Given the description of an element on the screen output the (x, y) to click on. 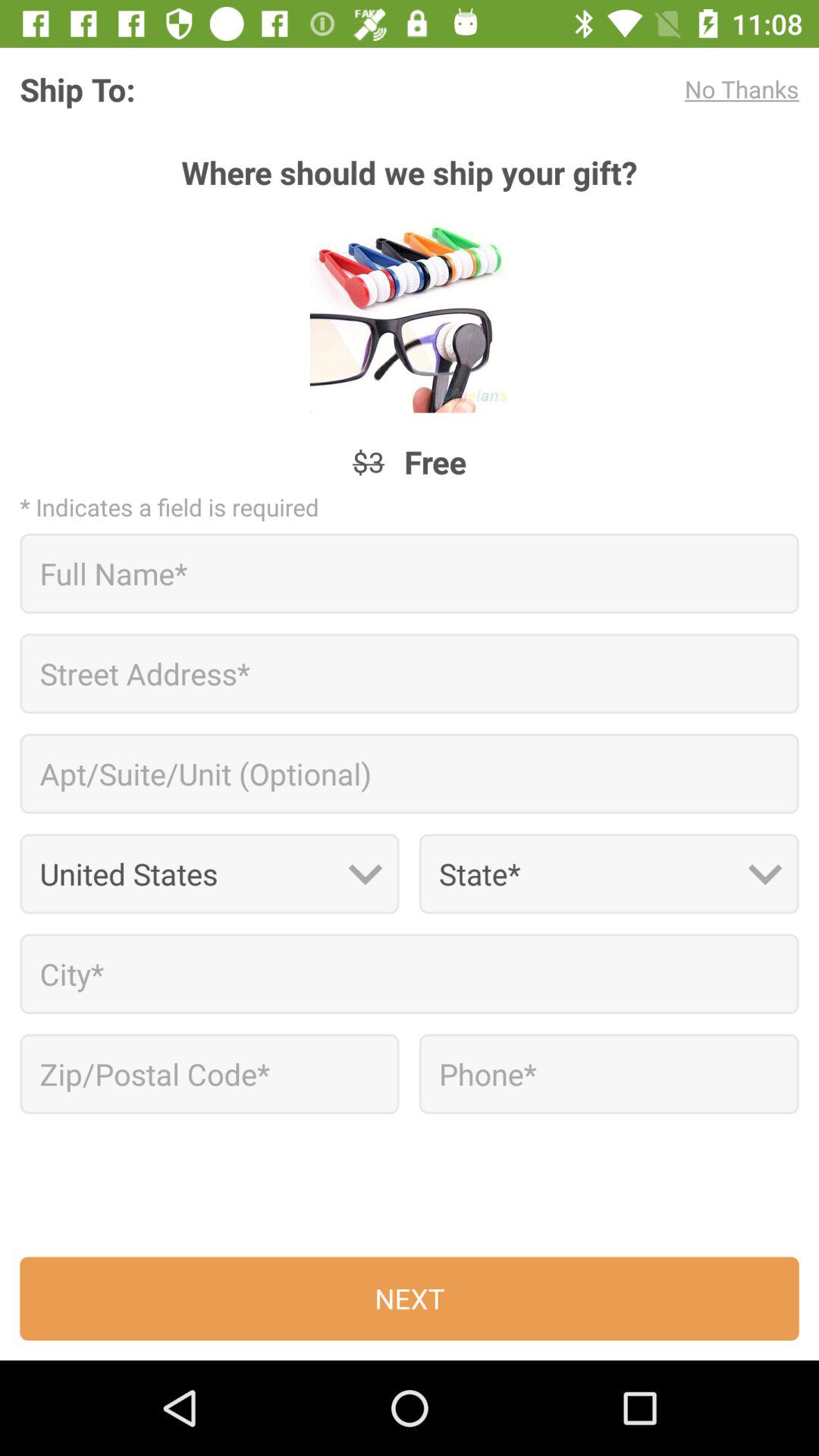
to create phone number (609, 1073)
